Given the description of an element on the screen output the (x, y) to click on. 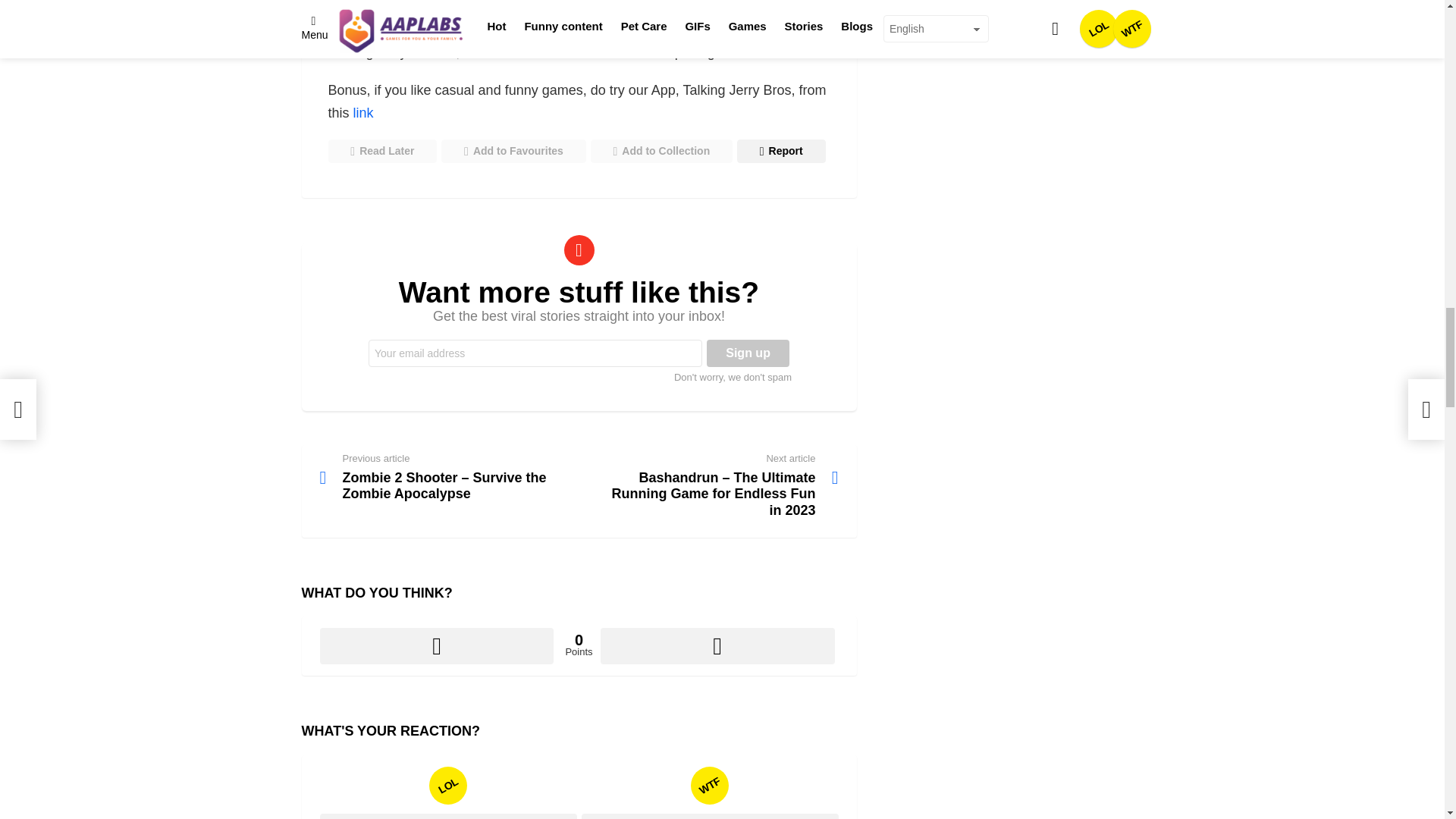
Sign up (747, 352)
